Given the description of an element on the screen output the (x, y) to click on. 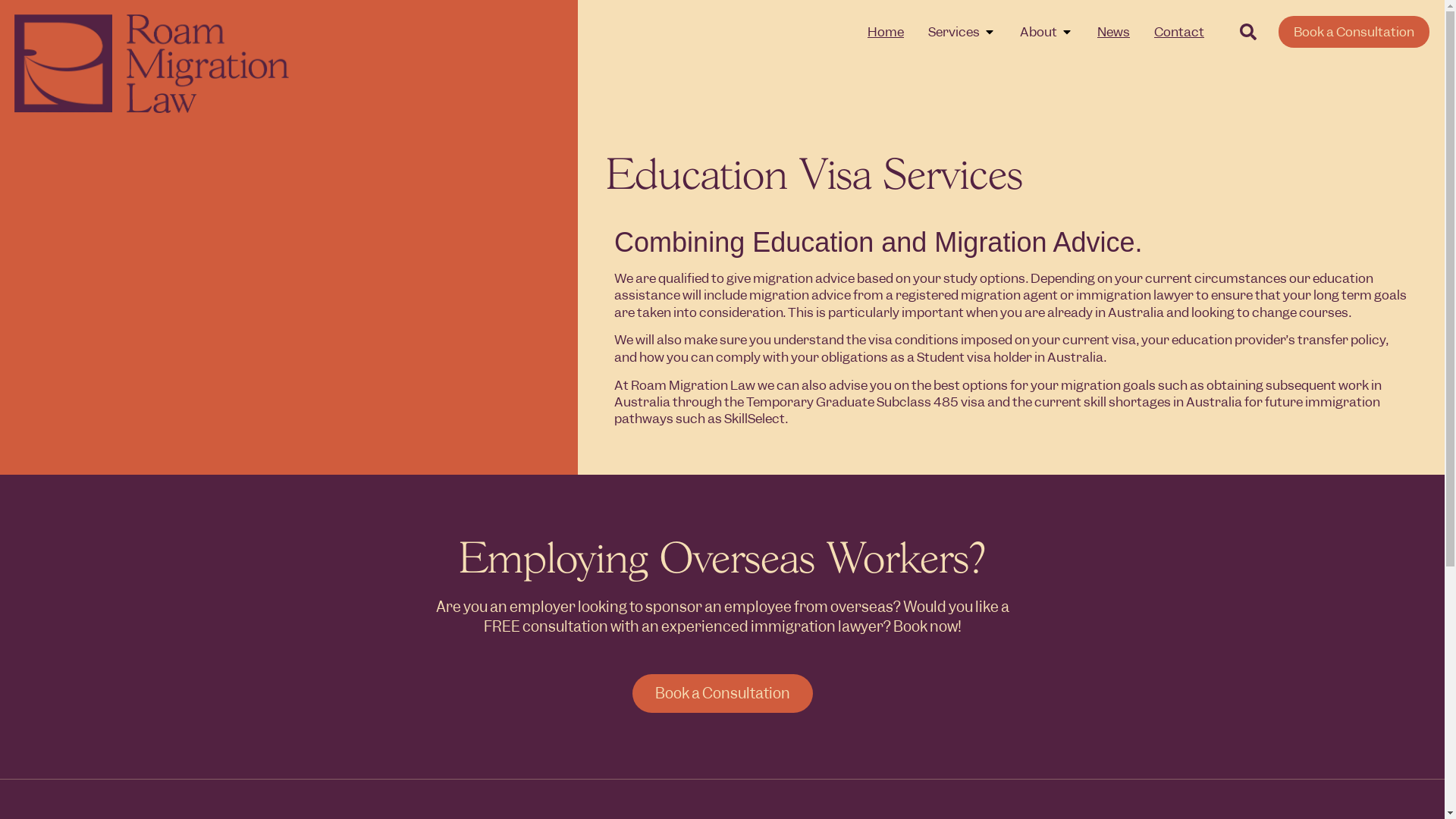
Book a Consultation Element type: text (722, 693)
Contact Element type: text (1179, 31)
Book a Consultation Element type: text (1353, 31)
News Element type: text (1113, 31)
Home Element type: text (885, 31)
